Given the description of an element on the screen output the (x, y) to click on. 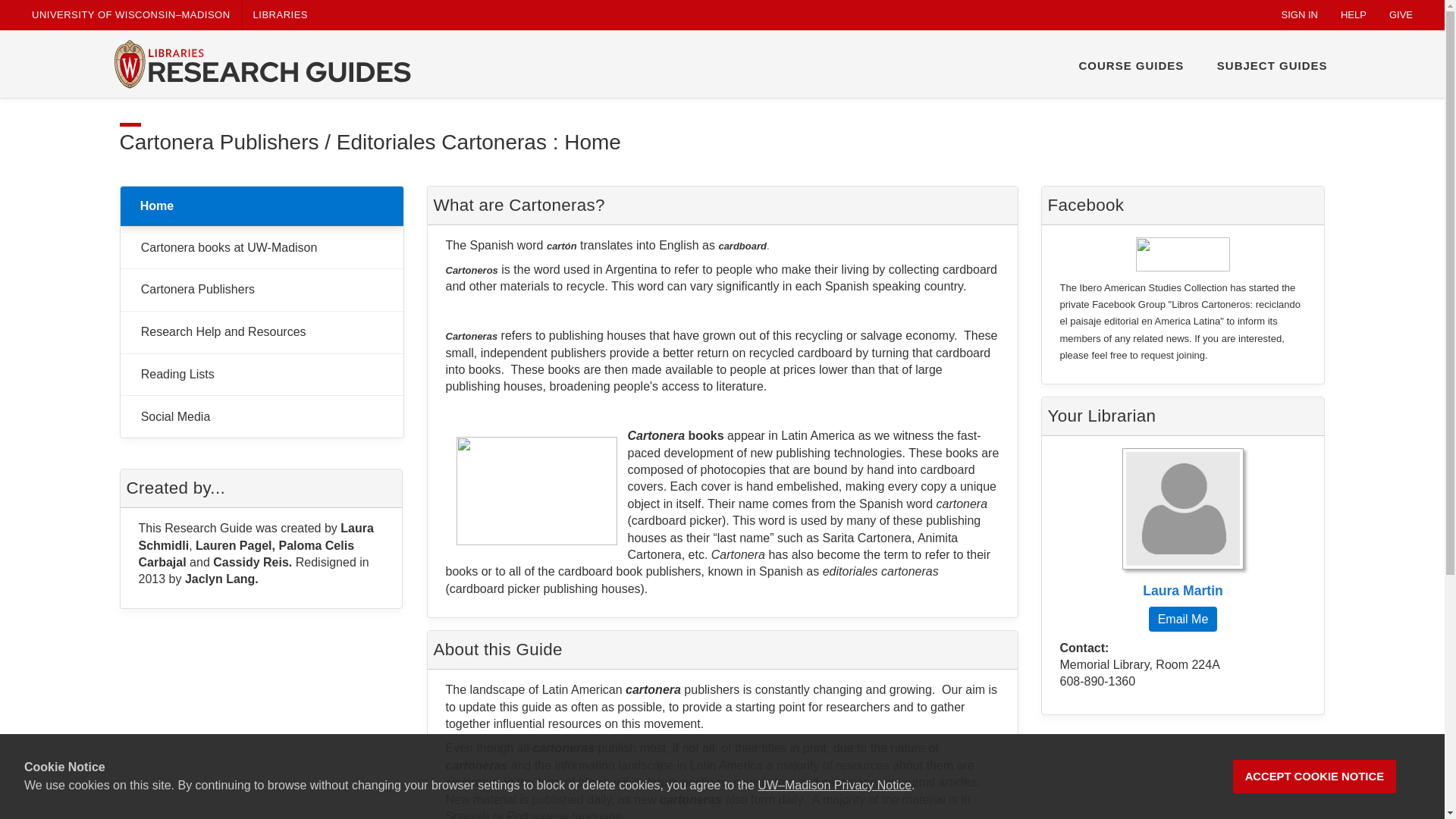
Cartonera Publishers (261, 290)
Research Help and Resources (261, 332)
Laura Martin (1182, 523)
The books you cannot do without in your field (261, 374)
SIGN IN (1299, 15)
COURSE GUIDES (1131, 65)
LIBRARIES (280, 15)
Social Media (261, 416)
Reading Lists (261, 374)
Home (261, 206)
Cartonera books at UW-Madison (261, 247)
HELP (1353, 15)
ACCEPT COOKIE NOTICE (1314, 776)
Email Me (1181, 618)
